Given the description of an element on the screen output the (x, y) to click on. 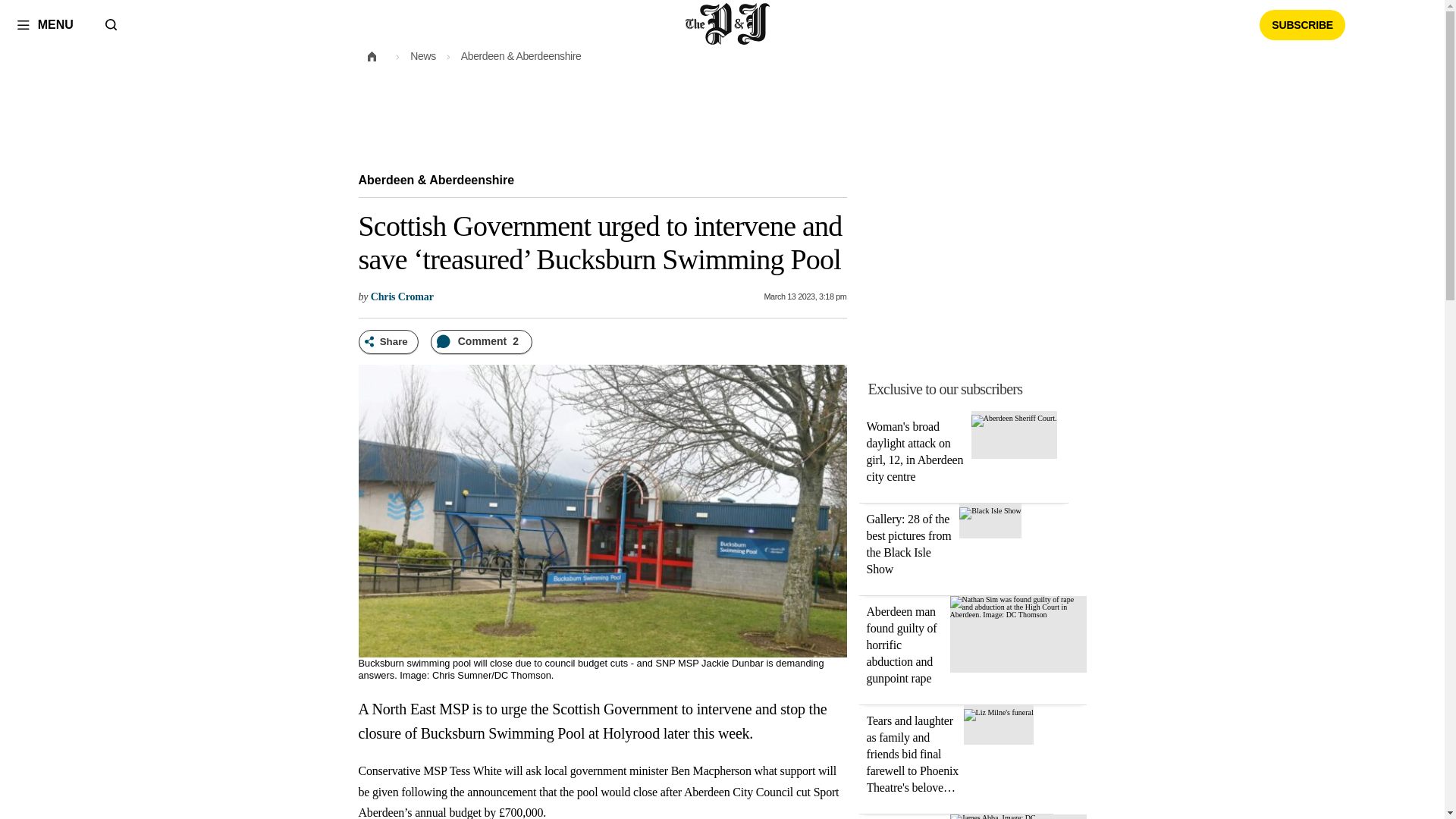
Exclusive to our subscribers (981, 388)
Press and Journal (727, 24)
MENU (44, 24)
Gallery: 28 of the best pictures from the Black Isle Show (990, 511)
